Given the description of an element on the screen output the (x, y) to click on. 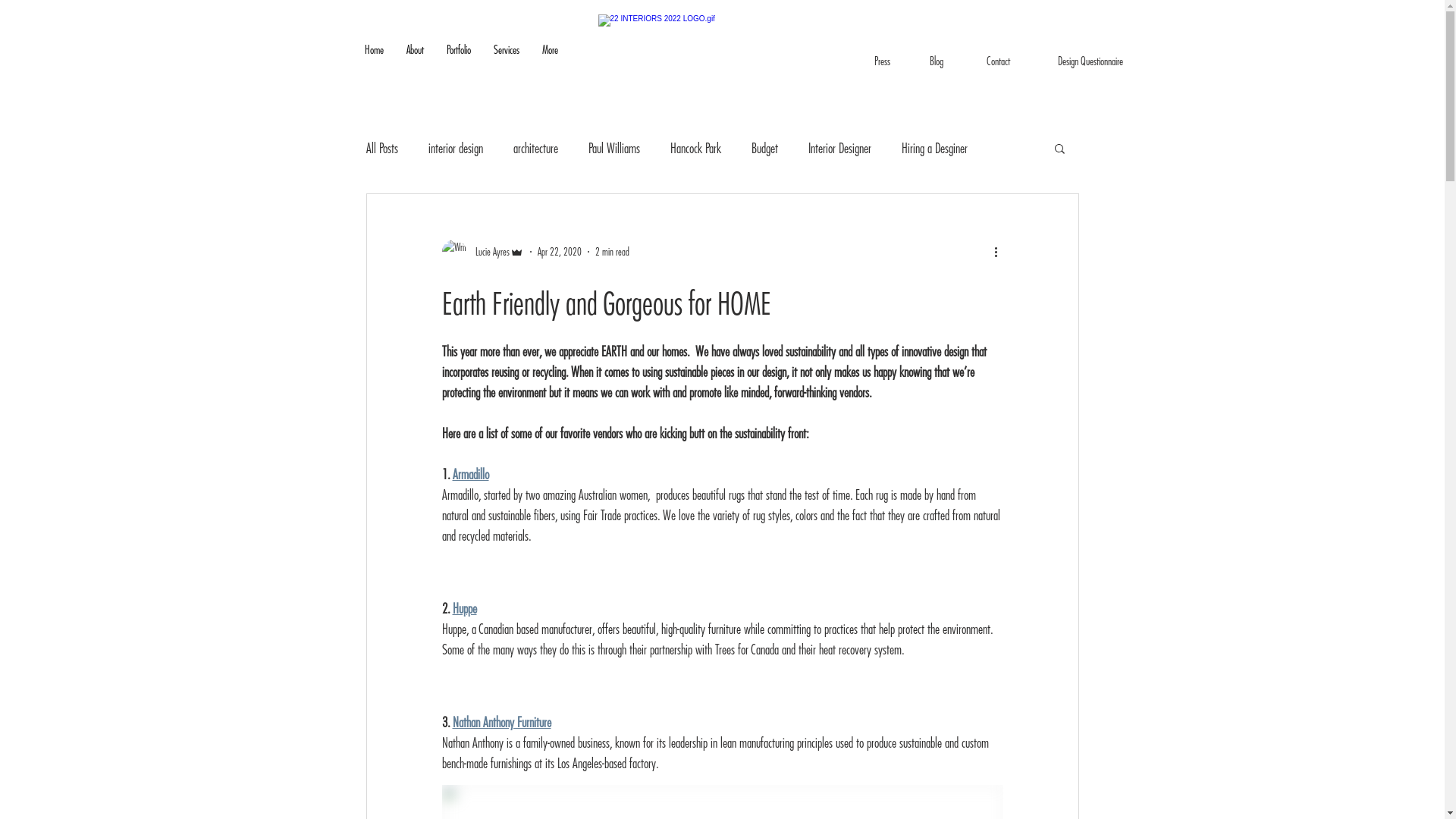
Lucie Ayres Element type: text (482, 251)
Contact Element type: text (998, 60)
architecture Element type: text (534, 147)
Nathan Anthony Furniture Element type: text (500, 722)
Budget Element type: text (763, 147)
Interior Designer Element type: text (839, 147)
Press Element type: text (882, 60)
interior design Element type: text (454, 147)
All Posts Element type: text (381, 147)
Design Questionnaire Element type: text (1090, 60)
Hiring a Desginer Element type: text (933, 147)
Blog Element type: text (935, 60)
Armadillo Element type: text (469, 474)
Hancock Park Element type: text (695, 147)
About Element type: text (414, 60)
Home Element type: text (374, 60)
Paul Williams Element type: text (614, 147)
Huppe Element type: text (463, 608)
